Given the description of an element on the screen output the (x, y) to click on. 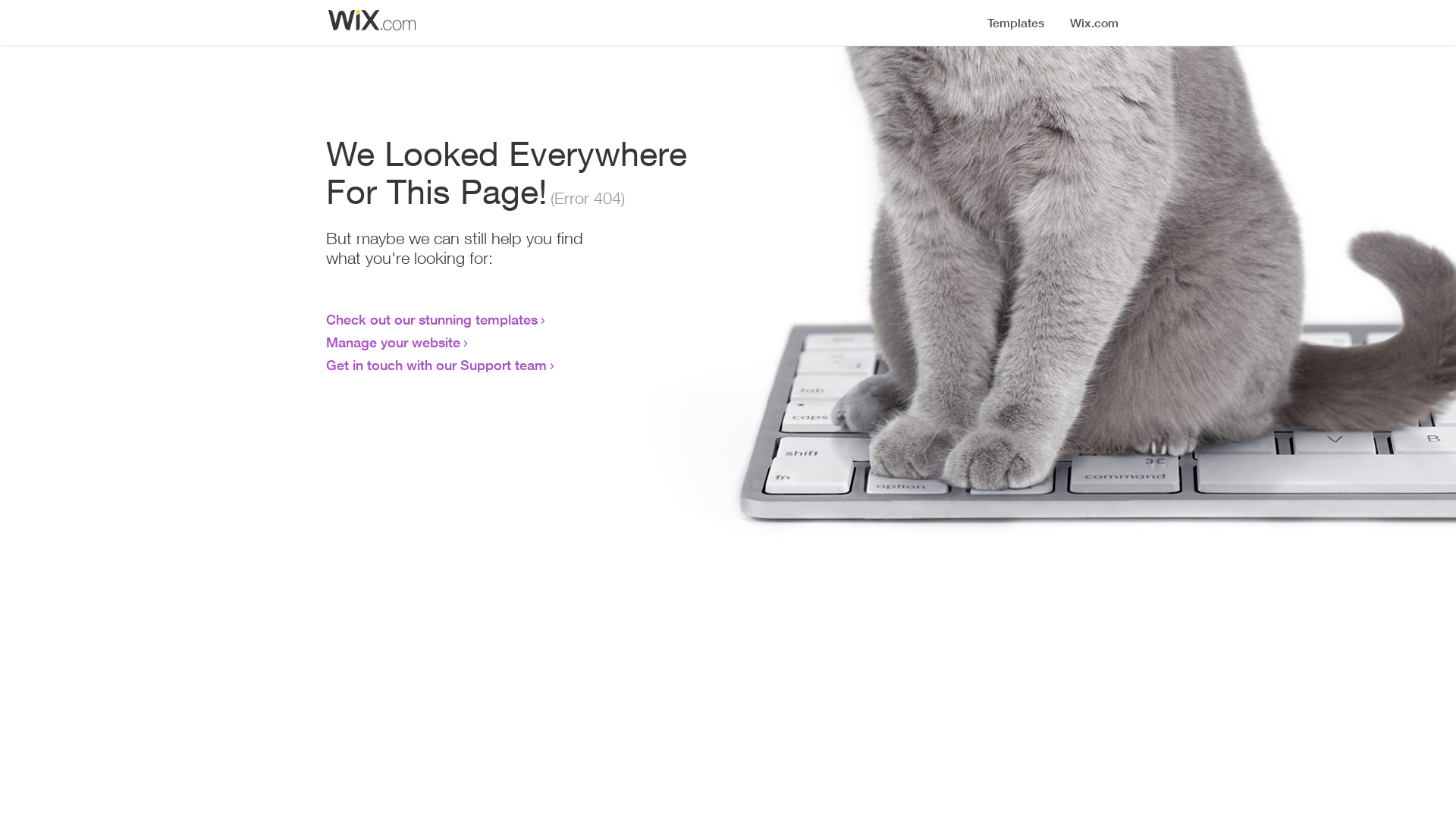
Check out our stunning templates Element type: text (431, 318)
Manage your website Element type: text (393, 341)
Get in touch with our Support team Element type: text (436, 364)
